Given the description of an element on the screen output the (x, y) to click on. 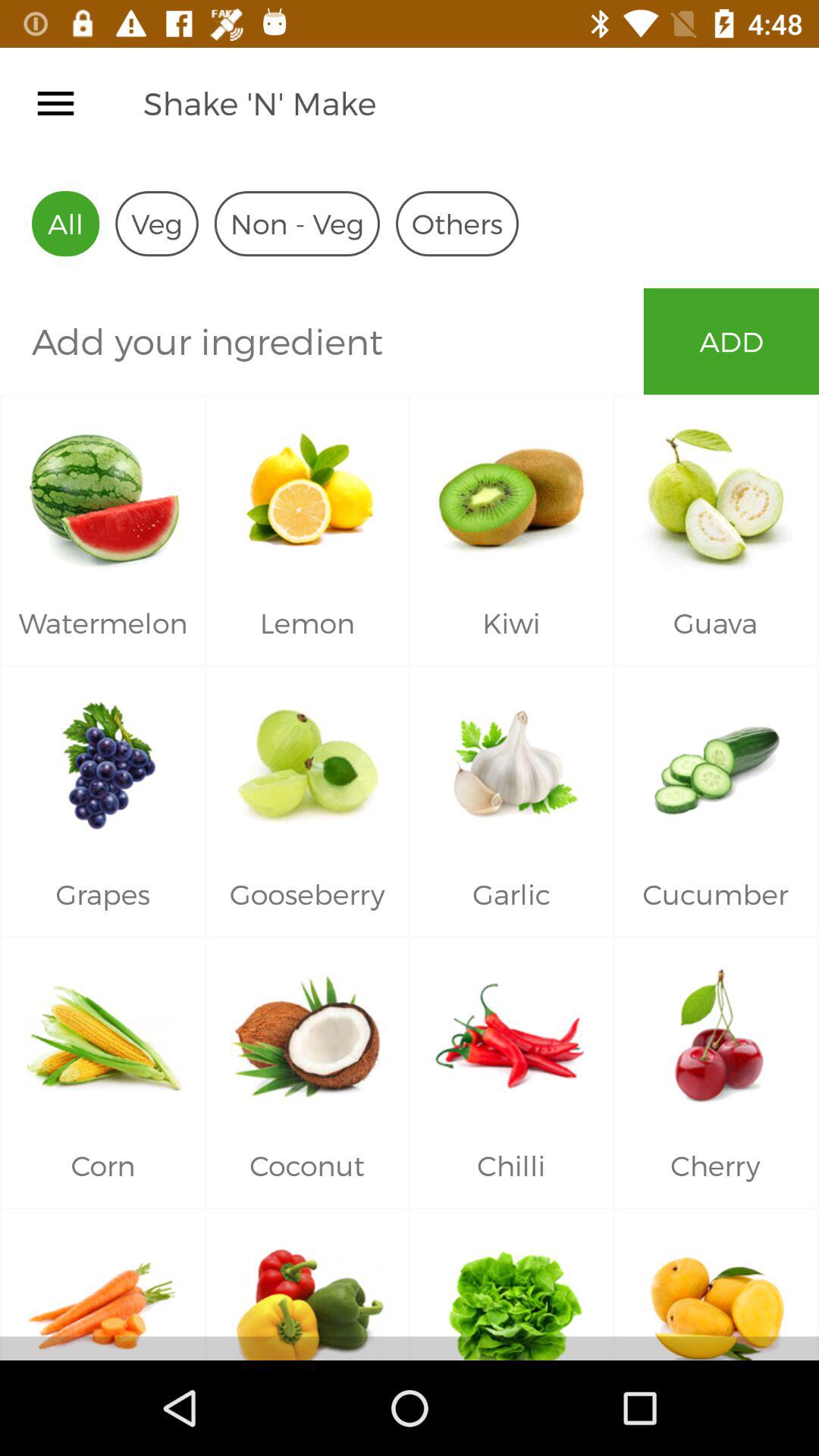
clcik on the nonveg option (297, 223)
select the image of cucumber (715, 759)
select the top image to the text corn (102, 1031)
select the image above the lemon (307, 488)
select the first image under add your ingredient (102, 488)
